Given the description of an element on the screen output the (x, y) to click on. 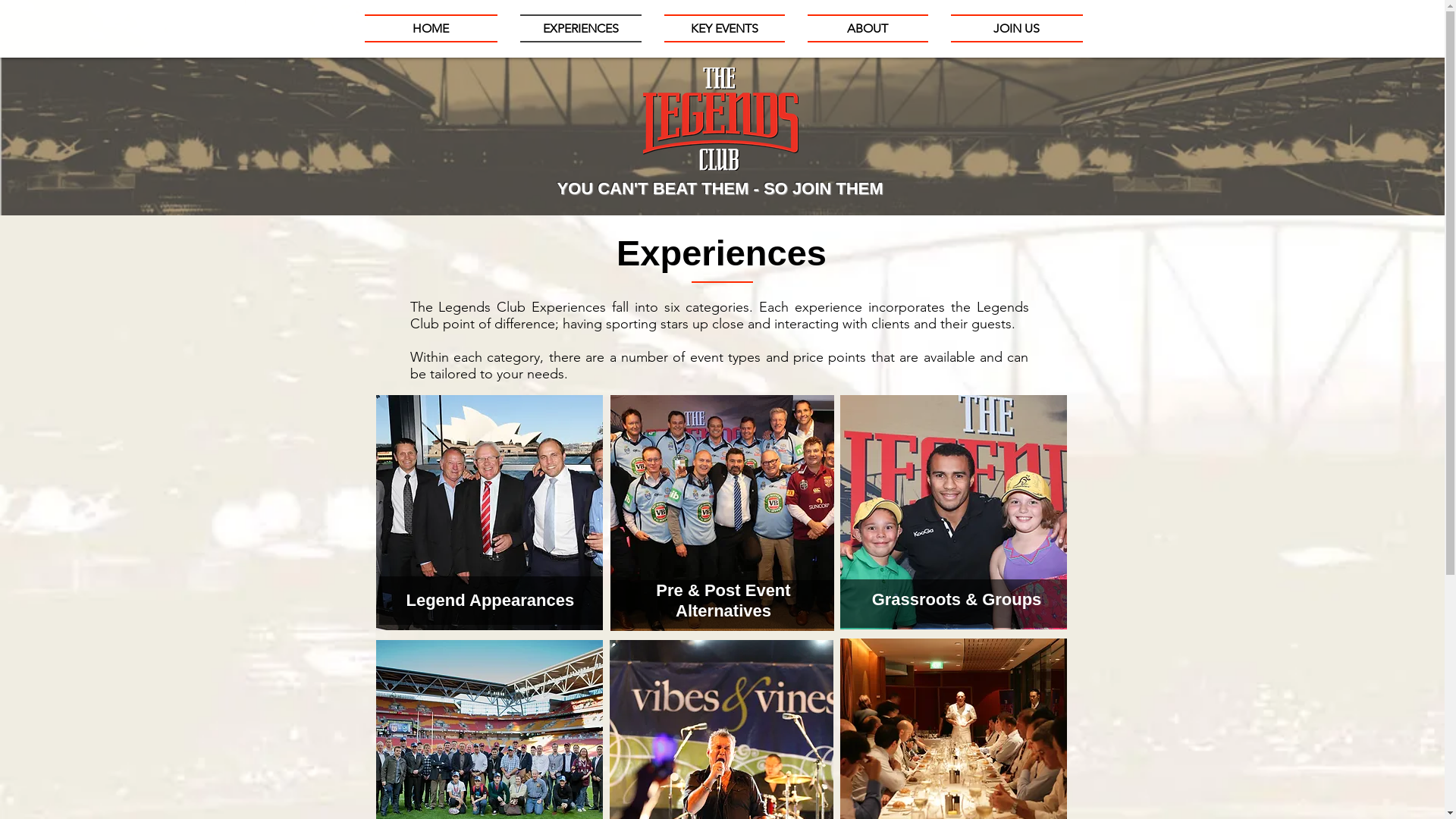
Pre & Post Event Alternatives Element type: text (722, 600)
ABOUT Element type: text (867, 28)
KEY EVENTS Element type: text (723, 28)
EXPERIENCES Element type: text (580, 28)
JOIN US Element type: text (1010, 28)
Grassroots & Groups Element type: text (956, 598)
Legend Appearances Element type: text (490, 599)
HOME Element type: text (436, 28)
